Given the description of an element on the screen output the (x, y) to click on. 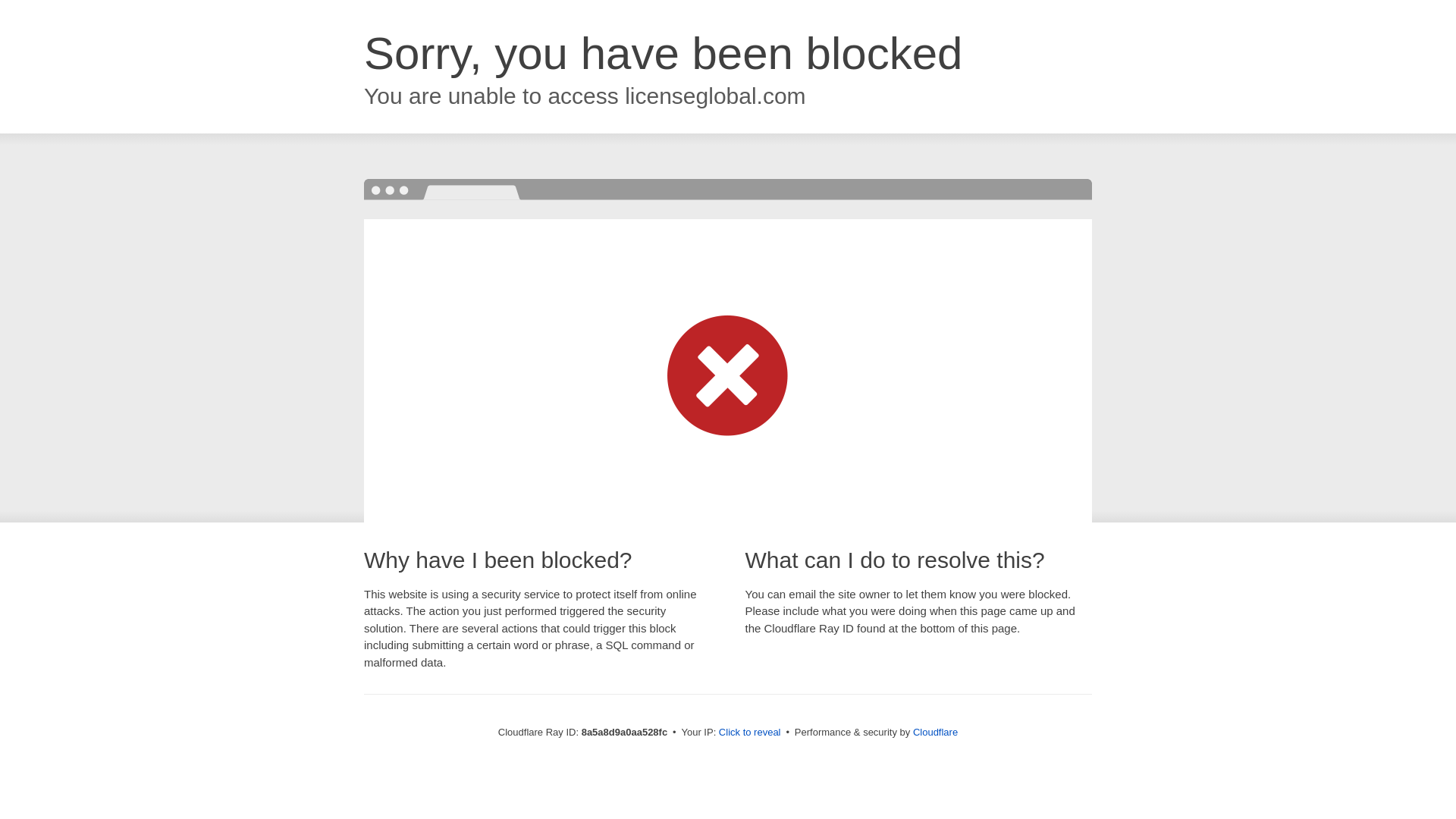
Cloudflare (935, 731)
Click to reveal (749, 732)
